Given the description of an element on the screen output the (x, y) to click on. 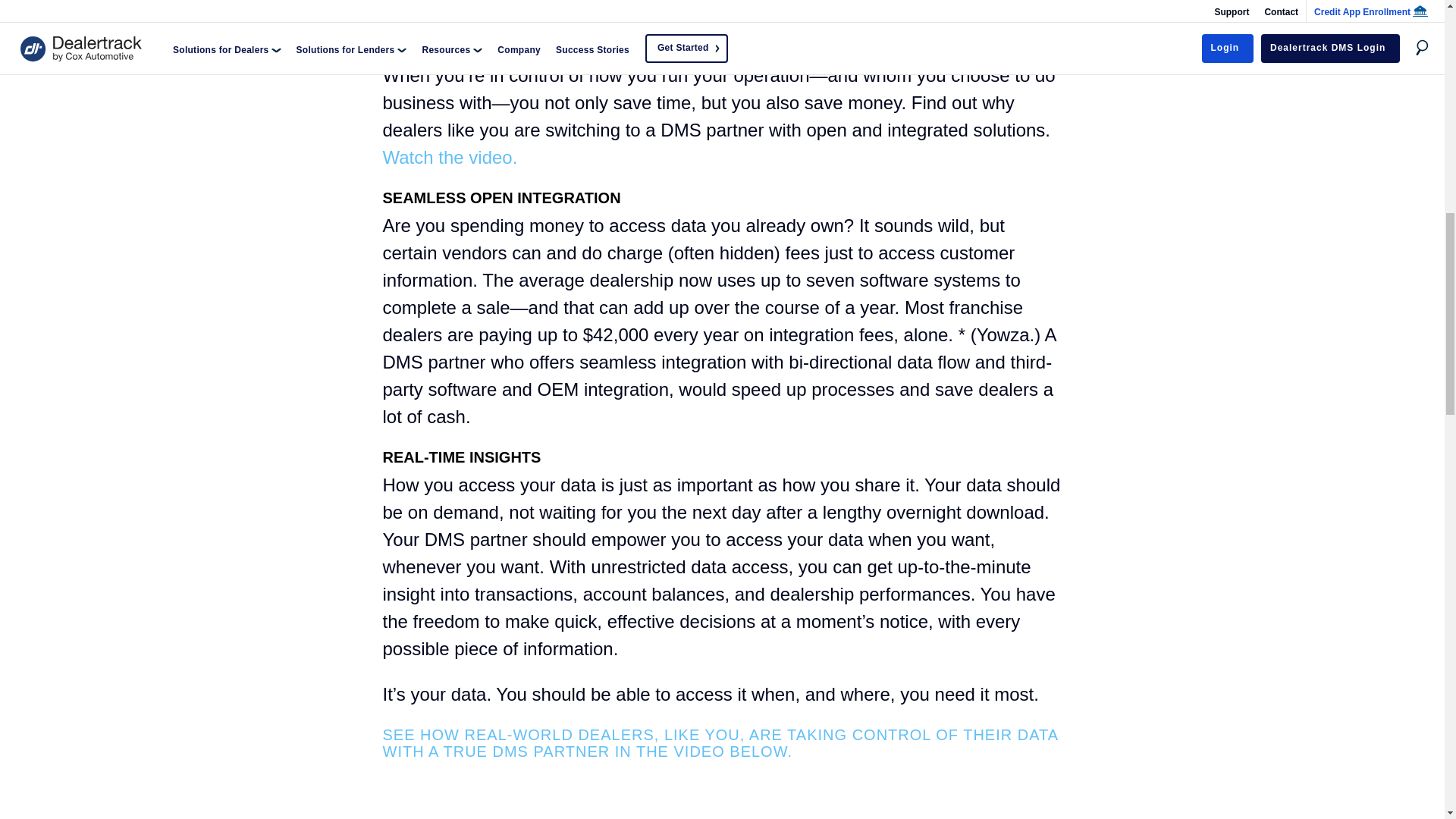
YouTube video player (721, 792)
